Given the description of an element on the screen output the (x, y) to click on. 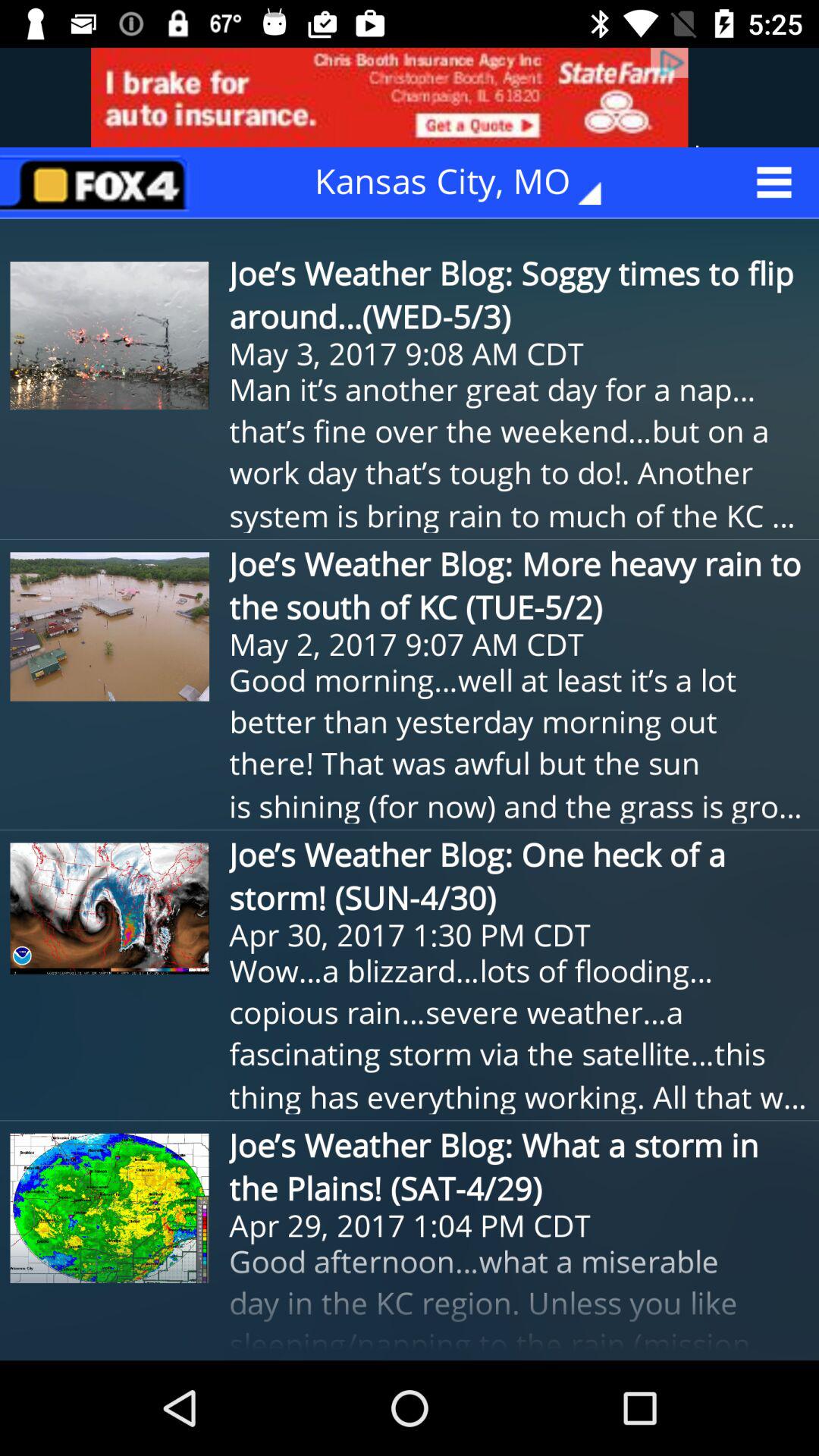
click on the image beside joes weather blog more heavy rain to the south of kctue52 (109, 626)
go to the fourth image (109, 1208)
select the third image from the top (109, 908)
